Given the description of an element on the screen output the (x, y) to click on. 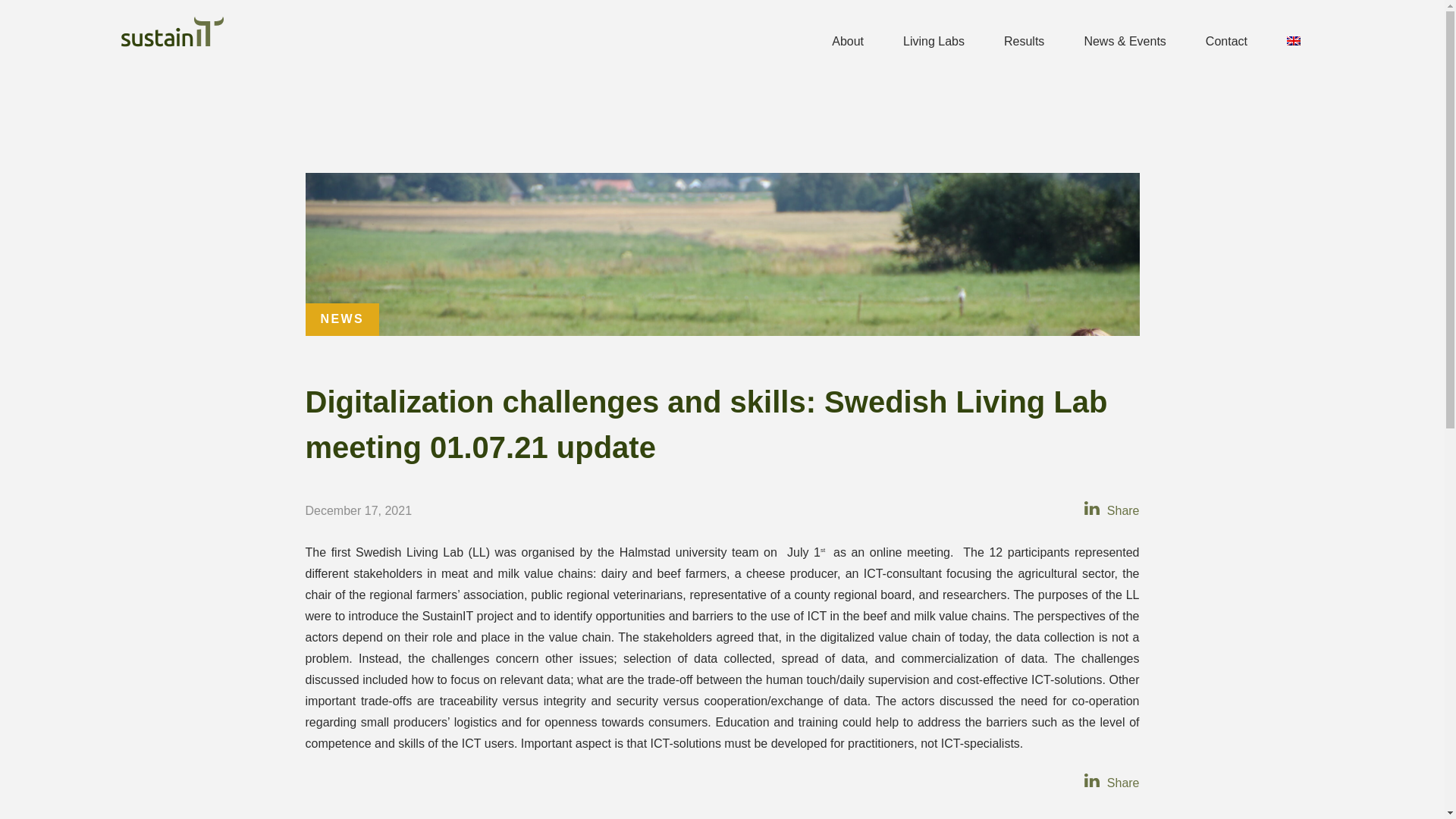
Share (1120, 782)
Share (1120, 510)
Results (1024, 38)
Contact (1226, 38)
Living Labs (933, 38)
NEWS (342, 318)
About (847, 38)
